Given the description of an element on the screen output the (x, y) to click on. 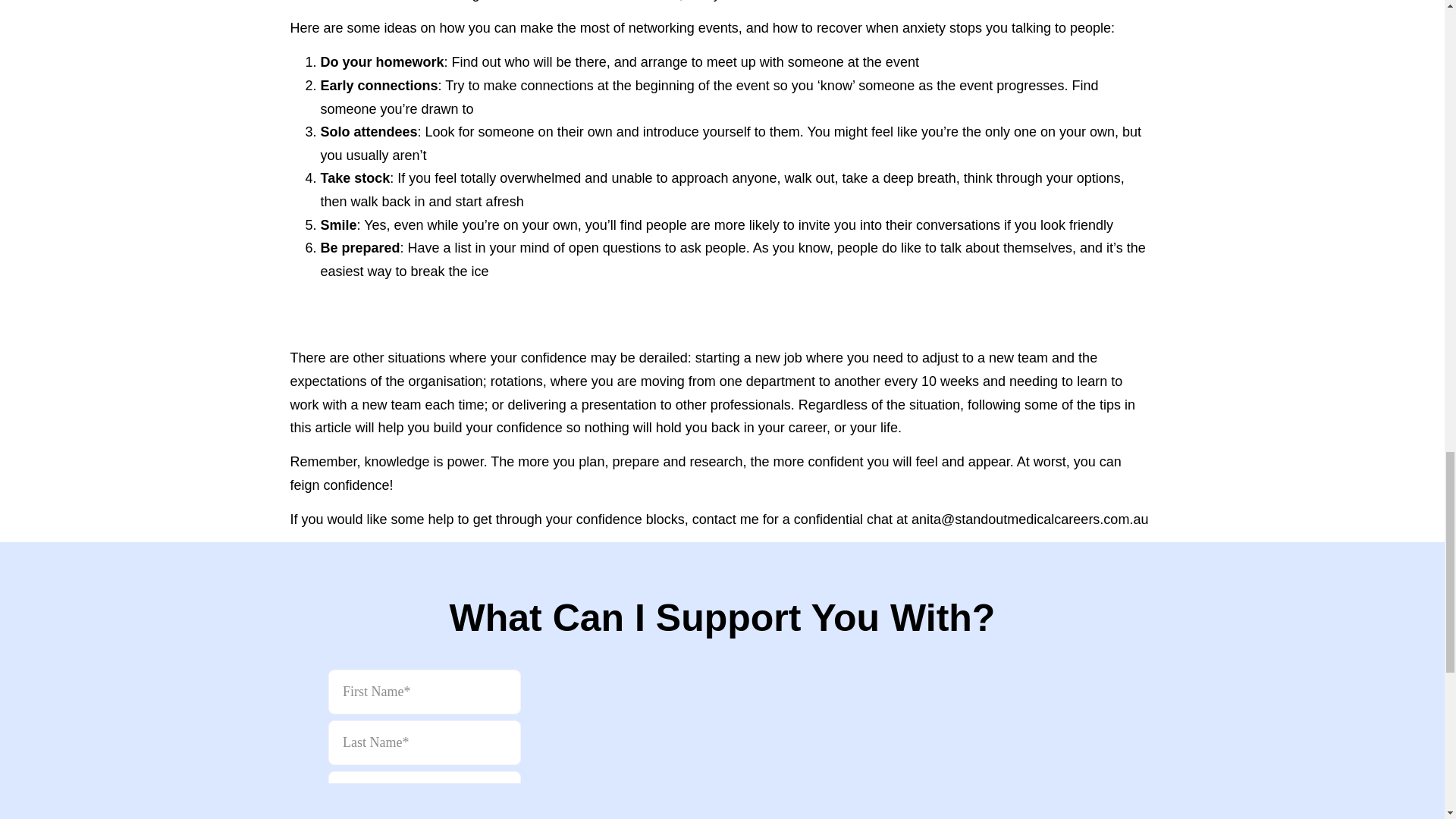
Contact (721, 725)
